Given the description of an element on the screen output the (x, y) to click on. 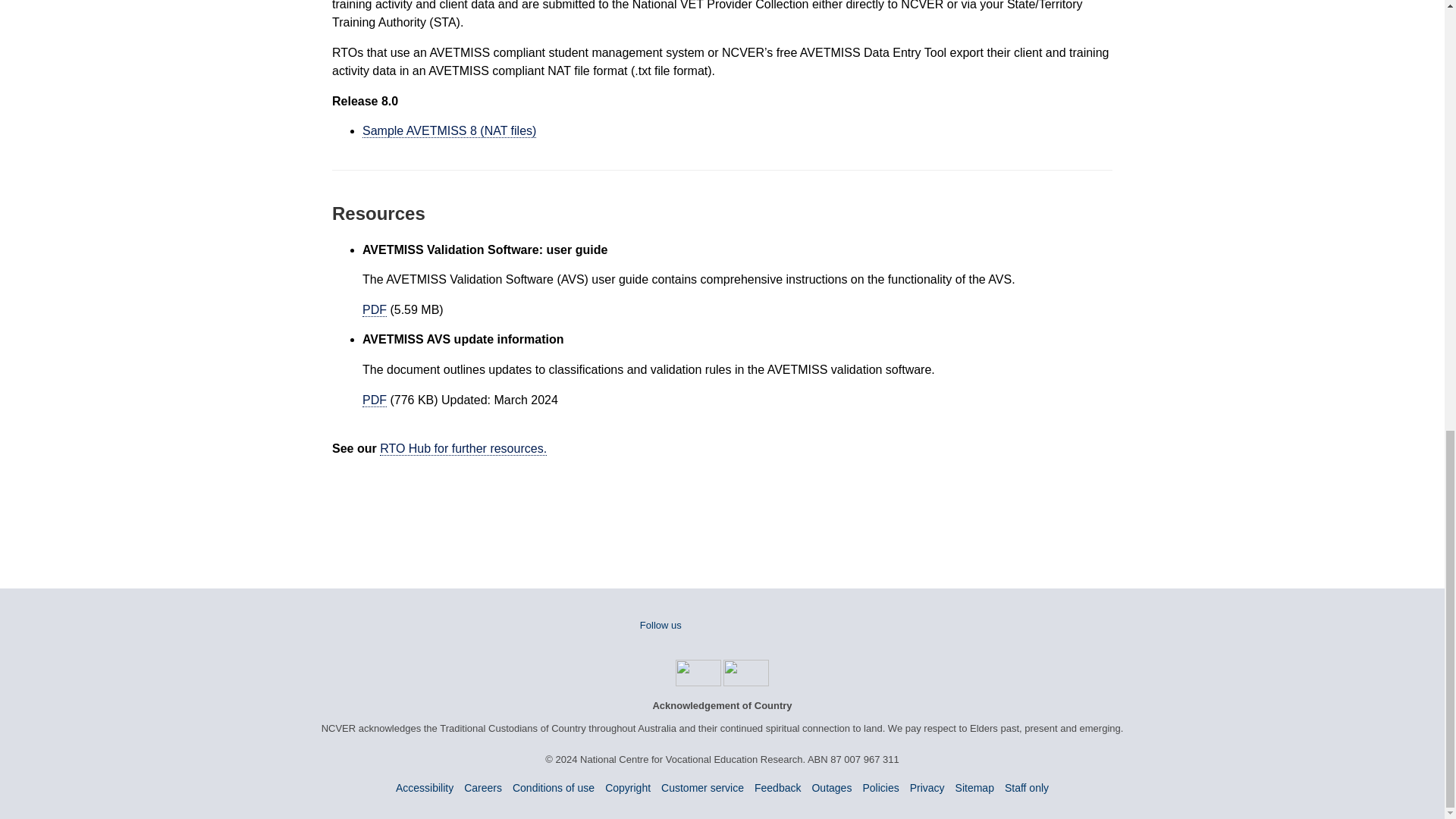
Careers (483, 787)
AVS update information (374, 400)
RTO Hub for further resources. (463, 448)
Customer service (702, 787)
Copyright (627, 787)
Accessibility (424, 787)
Conditions of use (553, 787)
PDF (374, 400)
PDF (374, 309)
